Given the description of an element on the screen output the (x, y) to click on. 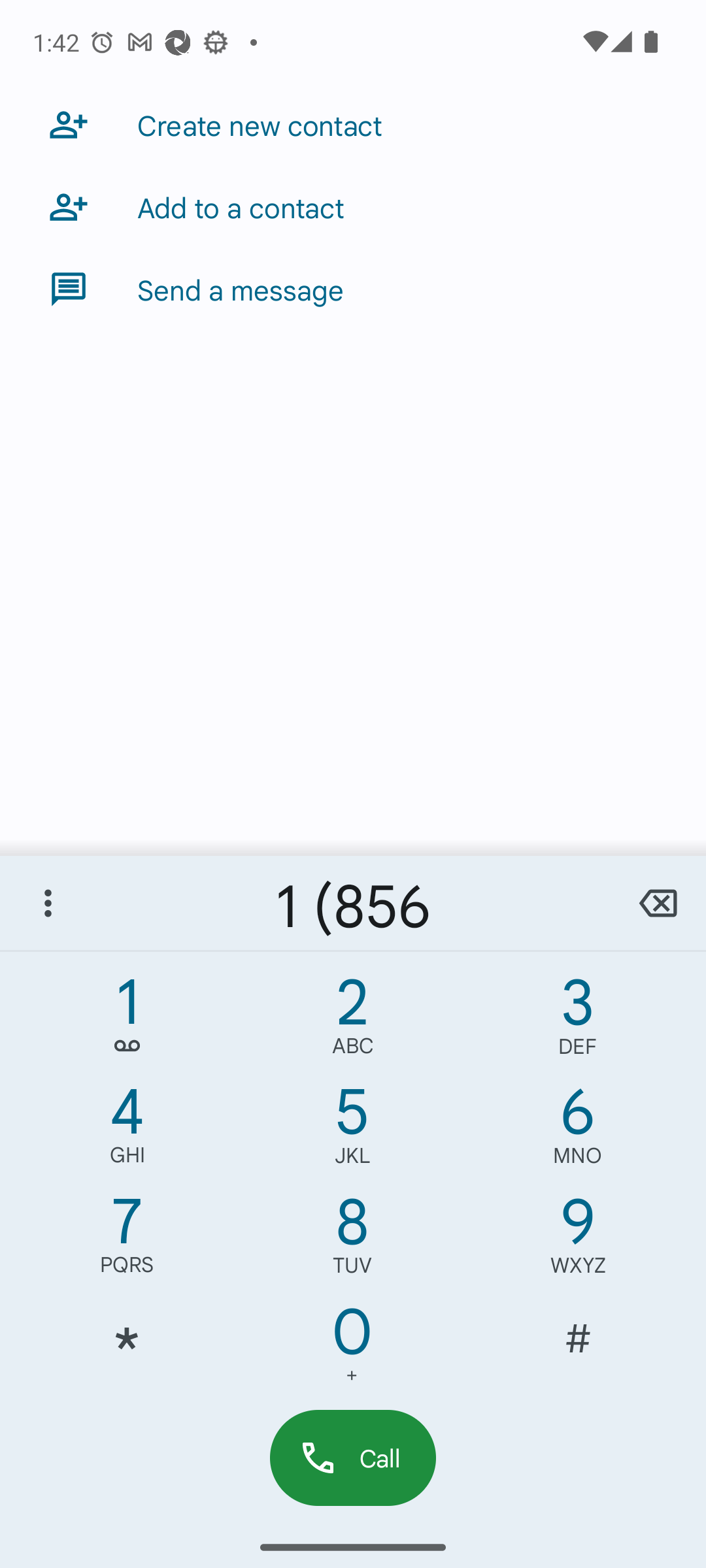
Create new contact (353, 124)
Add to a contact (353, 206)
Send a message (353, 288)
More options (48, 903)
1 (856 (352, 903)
backspace (657, 903)
1, 1 (127, 1020)
2,ABC 2 ABC (352, 1020)
3,DEF 3 DEF (578, 1020)
4,GHI 4 GHI (127, 1130)
5,JKL 5 JKL (352, 1130)
6,MNO 6 MNO (578, 1130)
7,PQRS 7 PQRS (127, 1240)
8,TUV 8 TUV (352, 1240)
9,WXYZ 9 WXYZ (578, 1240)
* (127, 1349)
0 0 + (352, 1349)
# (578, 1349)
Call dial (352, 1457)
